Given the description of an element on the screen output the (x, y) to click on. 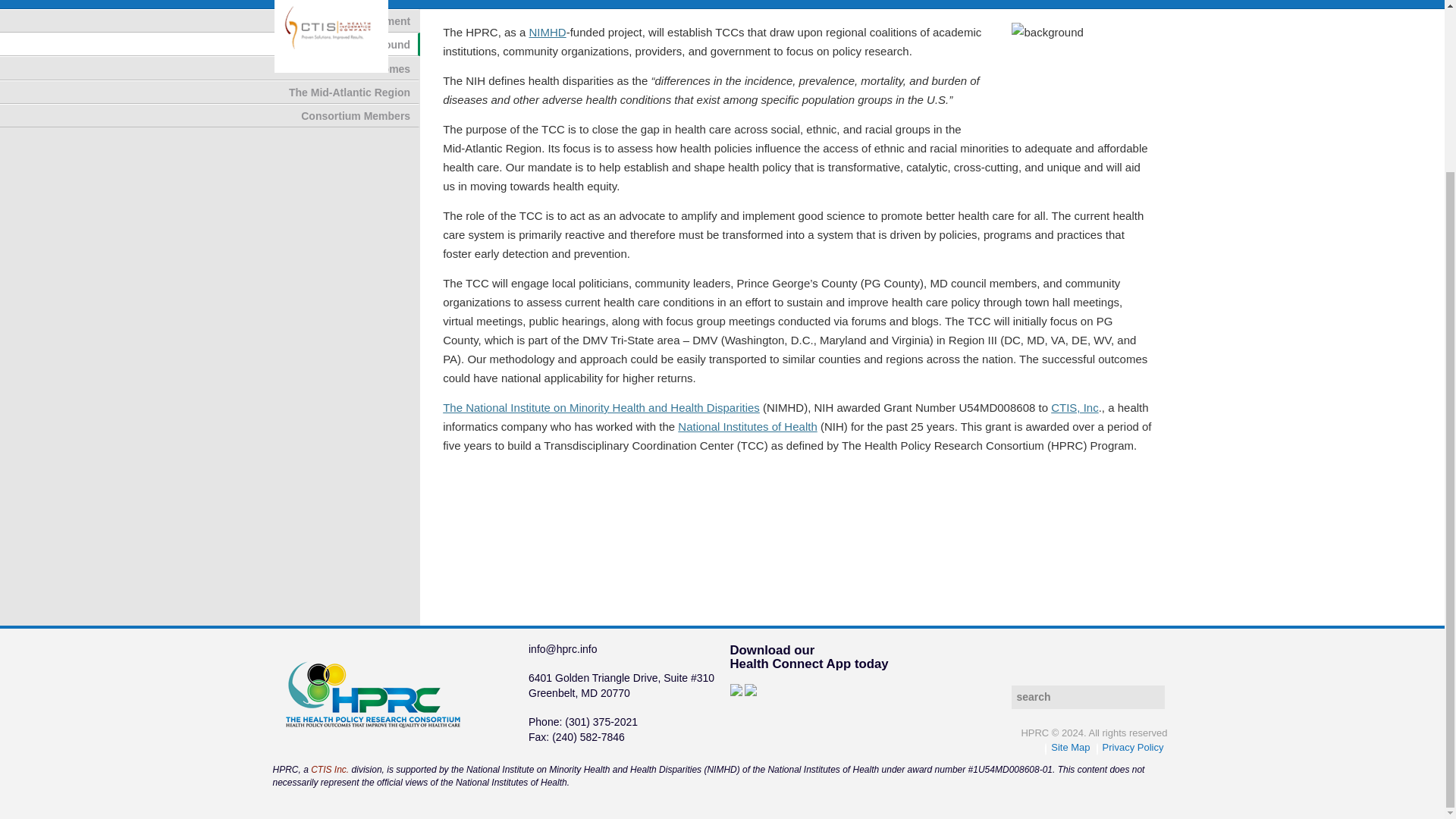
NIMHD (547, 31)
search (1087, 697)
Mission Statement (210, 20)
Aims and Outcomes (210, 67)
search (1087, 697)
Background (210, 44)
Search (1156, 697)
The Mid-Atlantic Region (210, 92)
Consortium Members (210, 115)
